Given the description of an element on the screen output the (x, y) to click on. 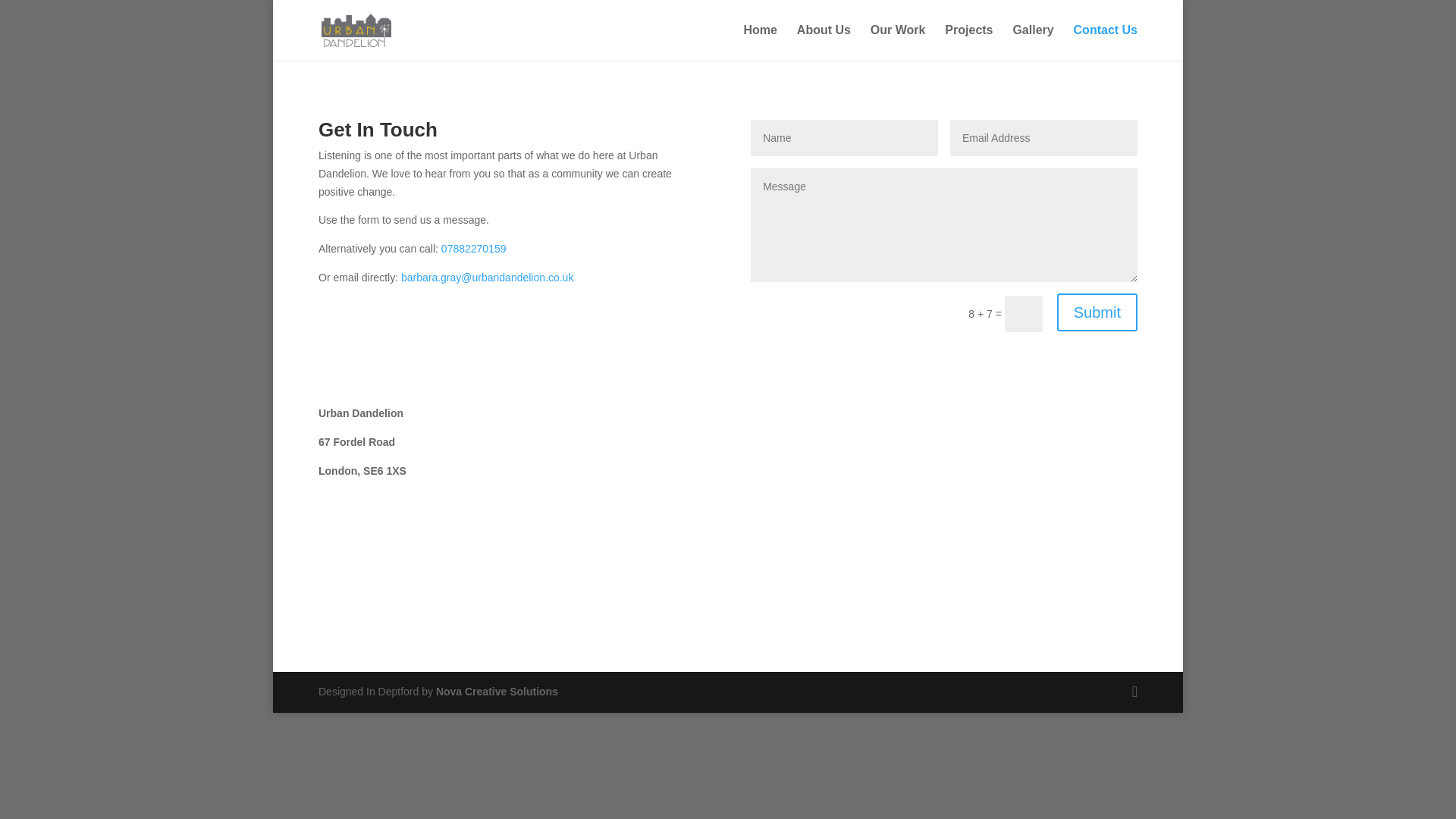
Contact Us (1105, 42)
Our Work (898, 42)
Gallery (1031, 42)
Nova Creative Solutions (496, 691)
07882270159 (473, 248)
Projects (968, 42)
Home (760, 42)
About Us (823, 42)
Submit (1097, 312)
